Given the description of an element on the screen output the (x, y) to click on. 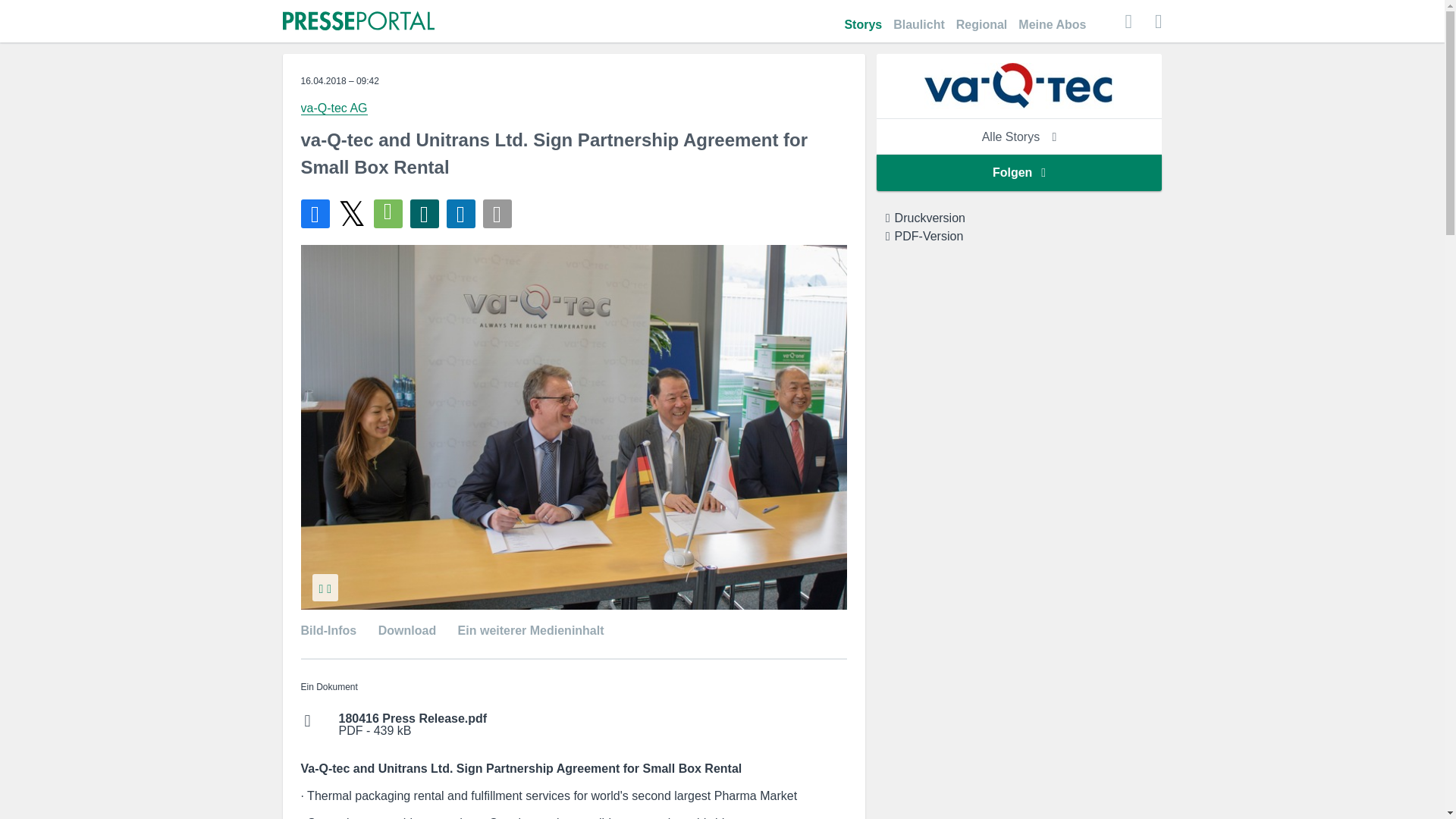
Regional (981, 17)
Meine Abos (1051, 17)
Storys (863, 17)
Meine Abos (1051, 17)
PRESSEPORTAL Startseite (357, 22)
PRESSEPORTAL Presseportal Logo (357, 22)
PRESSEPORTAL Presseportal Logo (357, 20)
Blaulicht (918, 17)
Storys (863, 17)
Blaulicht (918, 17)
